Given the description of an element on the screen output the (x, y) to click on. 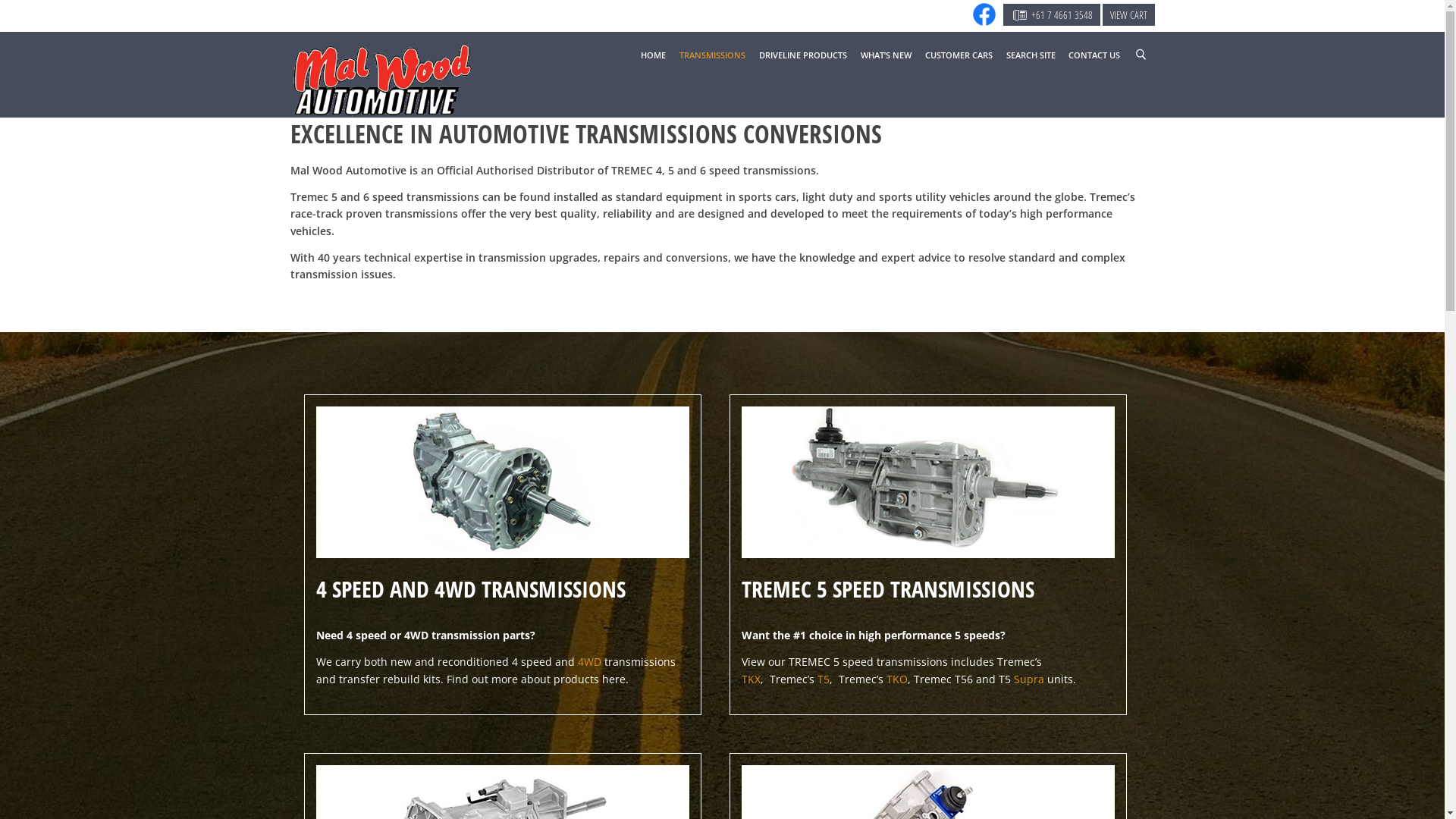
HOME Element type: text (652, 55)
VIEW CART Element type: text (1128, 14)
TKO Element type: text (896, 678)
DRIVELINE PRODUCTS Element type: text (802, 55)
TRANSMISSIONS Element type: text (712, 55)
SEARCH SITE Element type: text (1030, 55)
CUSTOMER CARS Element type: text (958, 55)
Supra Element type: text (1028, 678)
+61 7 4661 3548 Element type: text (1051, 14)
TKX Element type: text (750, 678)
T5 Element type: text (823, 678)
CONTACT US Element type: text (1093, 55)
4WD Element type: text (589, 661)
